Given the description of an element on the screen output the (x, y) to click on. 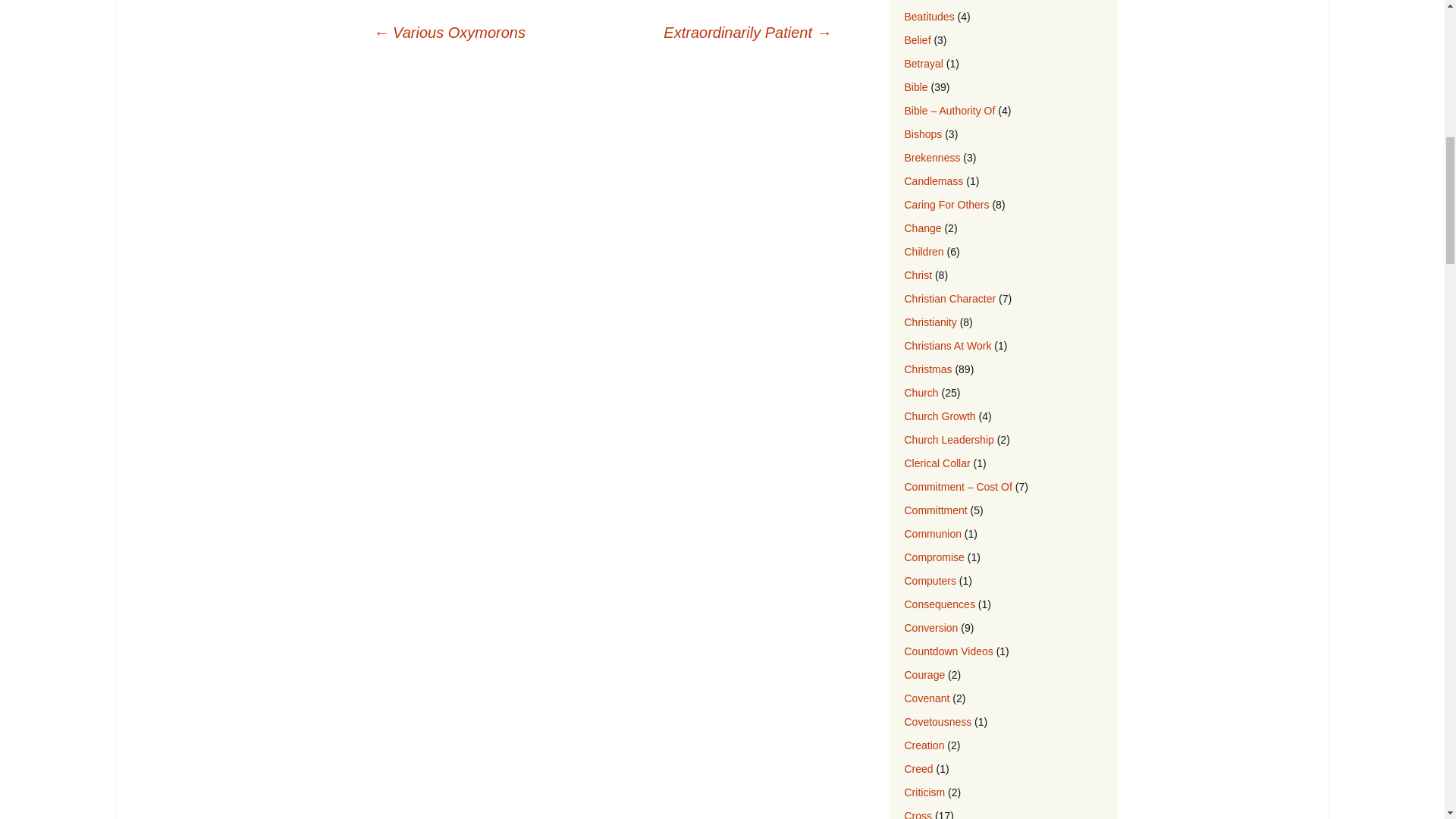
Beatitudes (928, 16)
Belief (917, 39)
Betrayal (923, 63)
Bible (915, 87)
